Given the description of an element on the screen output the (x, y) to click on. 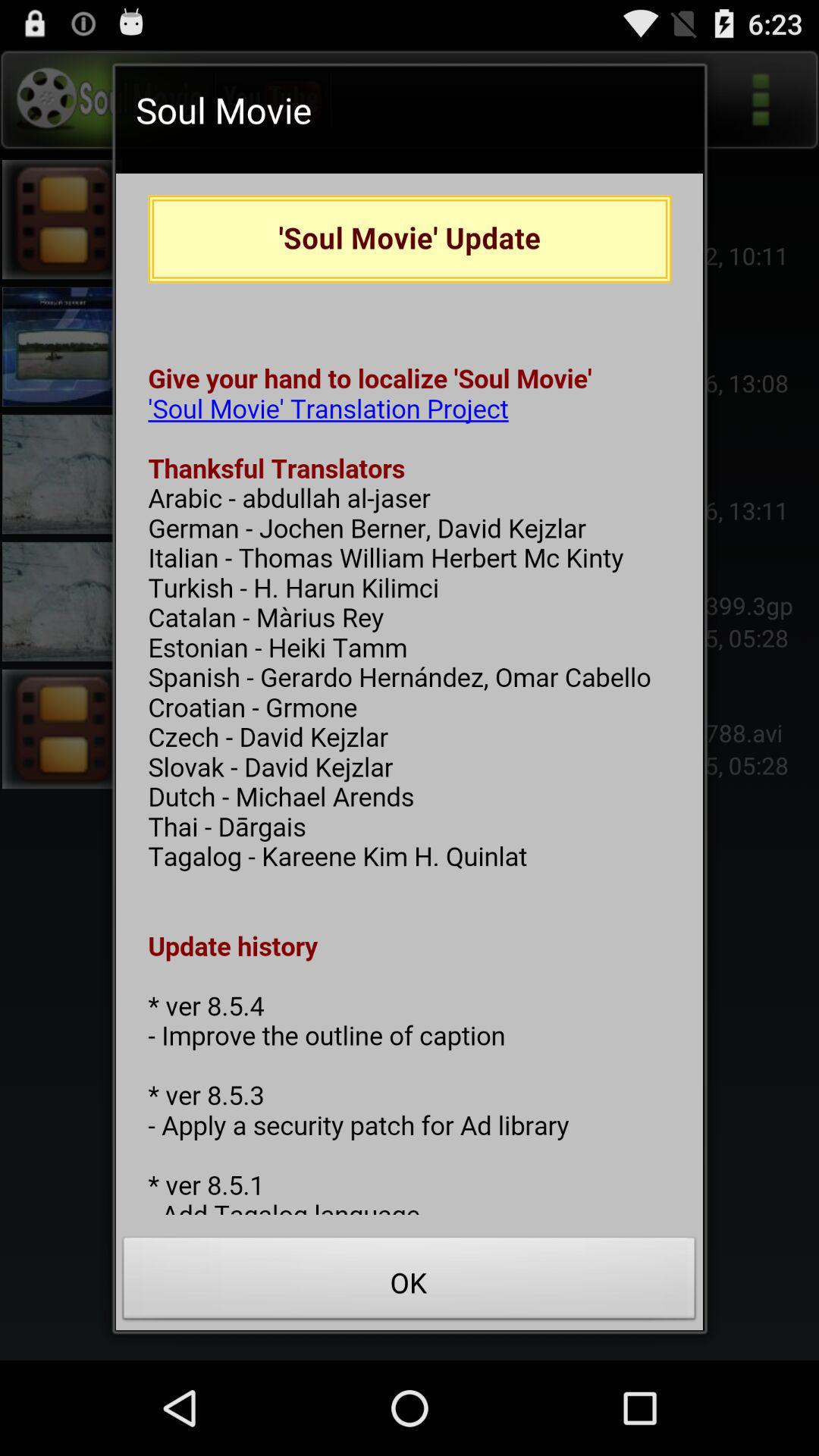
share the article (409, 693)
